Given the description of an element on the screen output the (x, y) to click on. 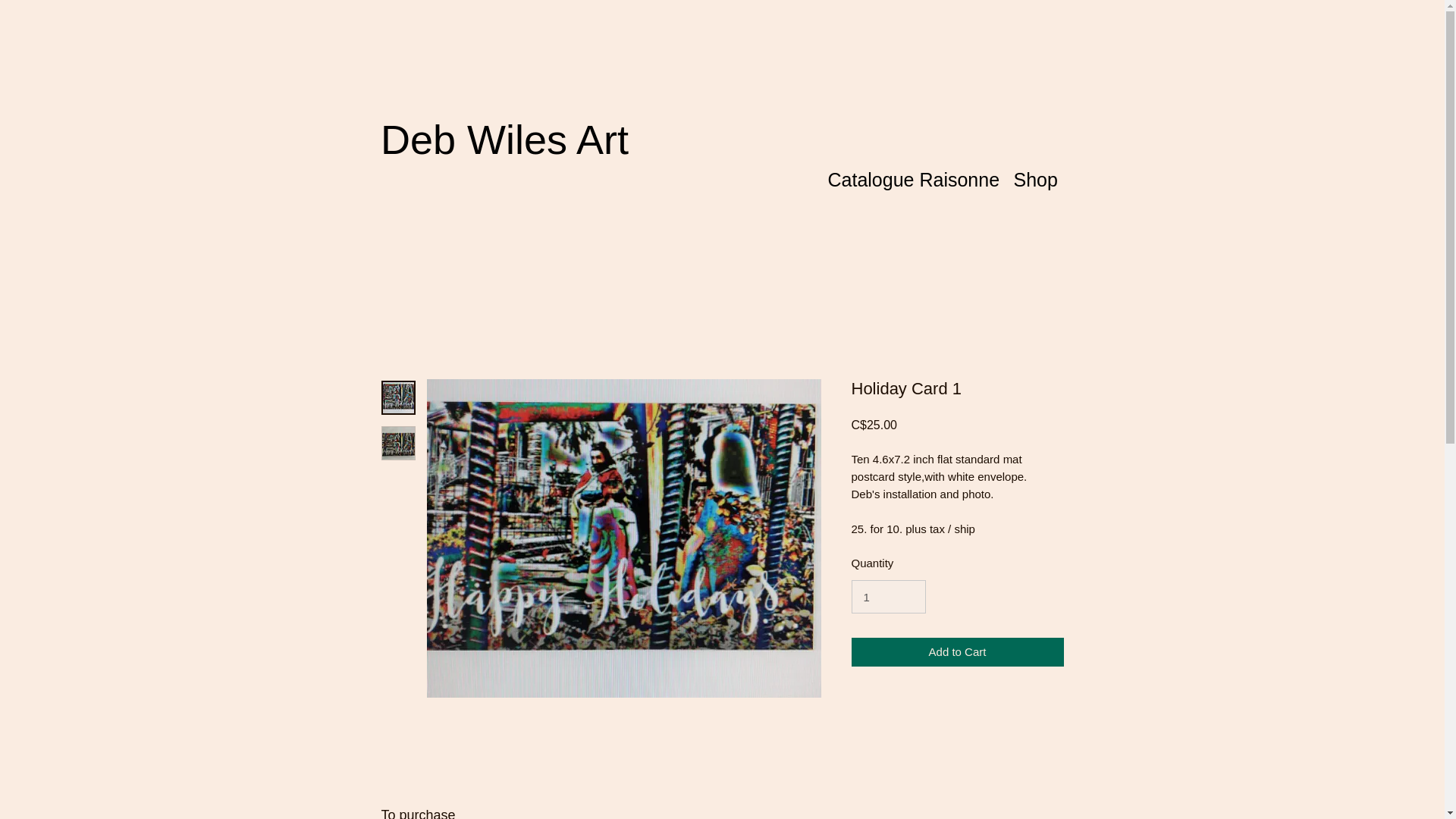
Shop (1035, 178)
1 (887, 596)
Add to Cart (956, 652)
Catalogue Raisonne (913, 178)
